Given the description of an element on the screen output the (x, y) to click on. 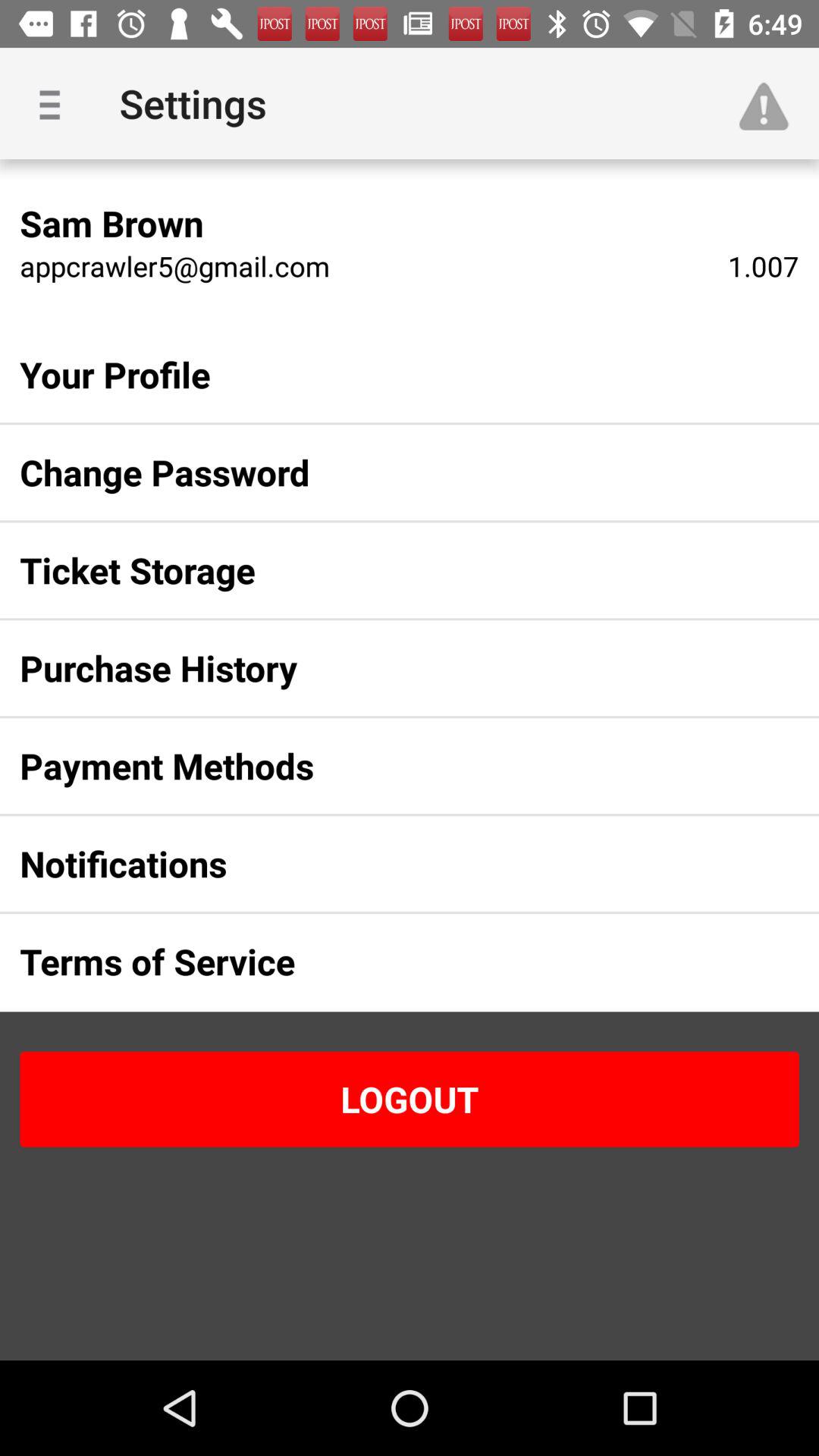
turn off the icon below purchase history item (385, 765)
